Given the description of an element on the screen output the (x, y) to click on. 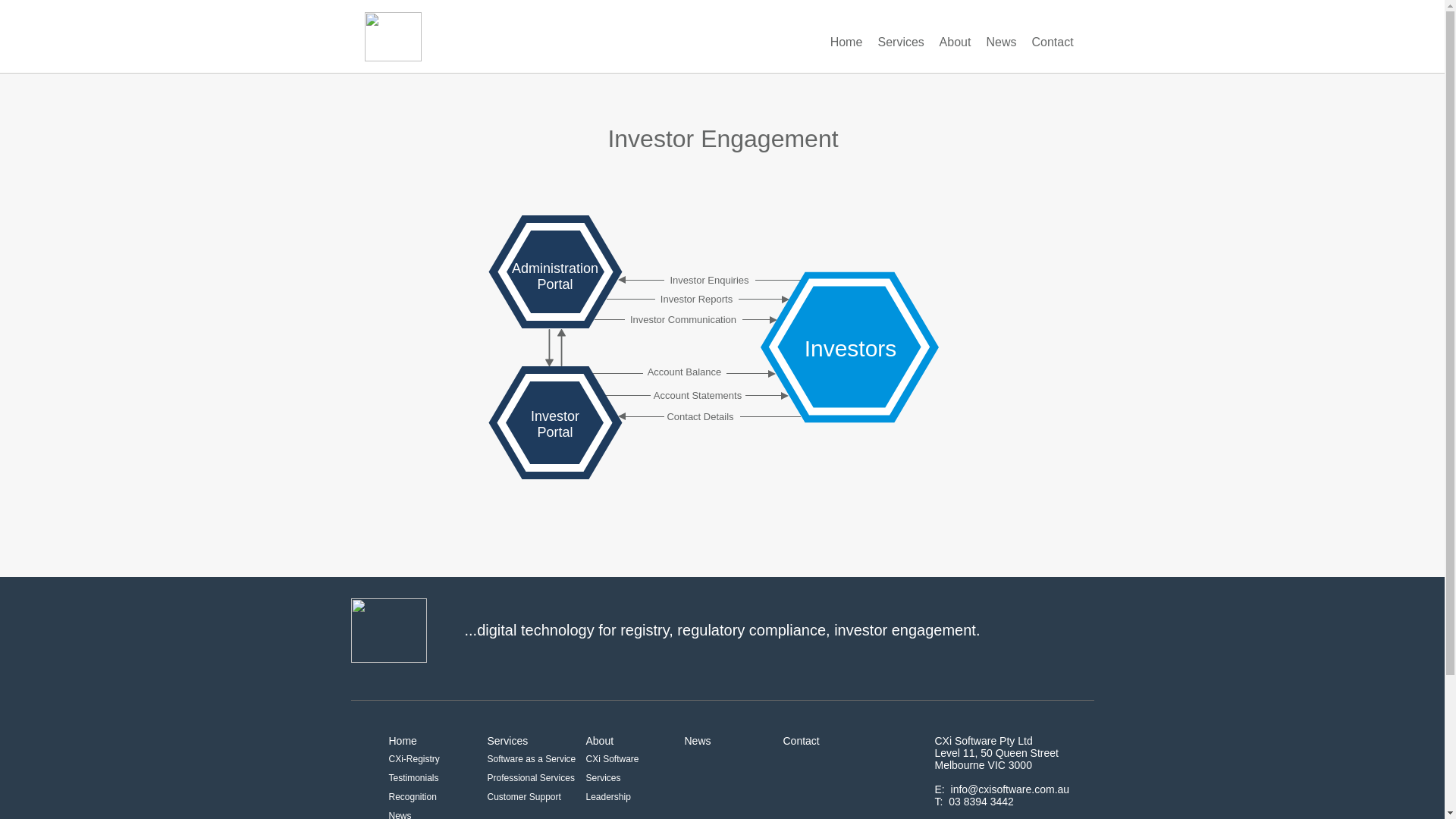
CXi-Registry Element type: text (413, 758)
Testimonials Element type: text (413, 777)
News Element type: text (697, 740)
Services Element type: text (900, 42)
Services Element type: text (506, 740)
CXi Software Element type: text (611, 758)
Recognition Element type: text (412, 796)
Customer Support Element type: text (523, 796)
Leadership Element type: text (607, 796)
News Element type: text (1000, 42)
Professional Services Element type: text (530, 777)
Services Element type: text (602, 777)
About Element type: text (599, 740)
cxilogo_2x.png Element type: hover (388, 630)
Home Element type: text (402, 740)
Home Element type: text (845, 42)
Software as a Service Element type: text (530, 758)
About Element type: text (954, 42)
info@cxisoftware.com.au Element type: text (1010, 789)
Contact Element type: text (1051, 42)
Contact Element type: text (800, 740)
